Given the description of an element on the screen output the (x, y) to click on. 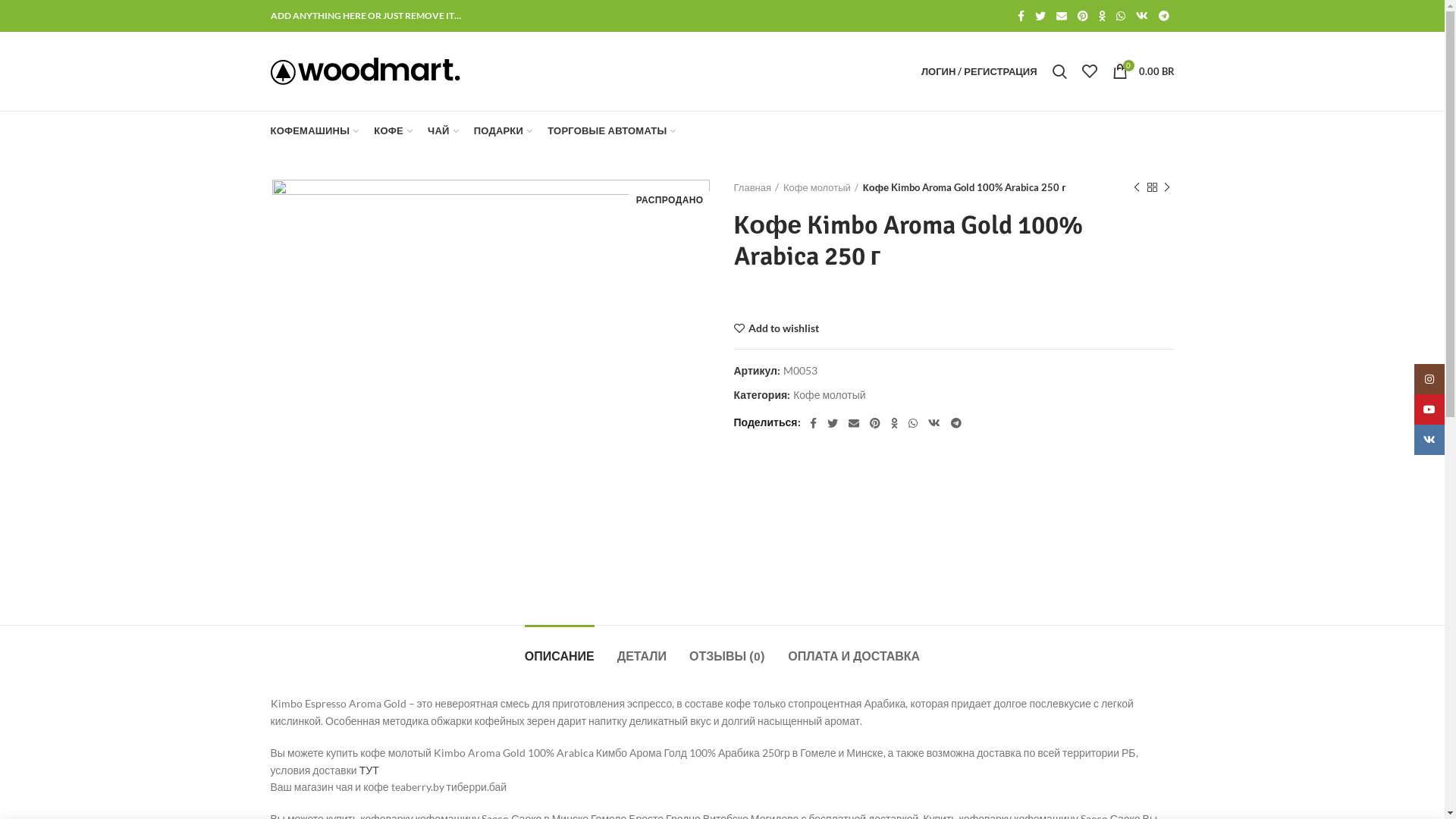
148 Element type: hover (490, 385)
Telegram Element type: text (1162, 15)
Telegram Element type: text (955, 423)
E-mail Element type: text (853, 423)
My Wishlist Element type: hover (1088, 71)
WhatsApp Element type: text (1119, 15)
Facebook Element type: text (813, 423)
Pinterest Element type: text (1082, 15)
E-mail Element type: text (1061, 15)
0
0.00 BR Element type: text (1142, 71)
Twitter Element type: text (832, 423)
Facebook Element type: text (1020, 15)
Add to wishlist Element type: text (776, 328)
Twitter Element type: text (1040, 15)
WhatsApp Element type: text (912, 423)
Pinterest Element type: text (874, 423)
